Given the description of an element on the screen output the (x, y) to click on. 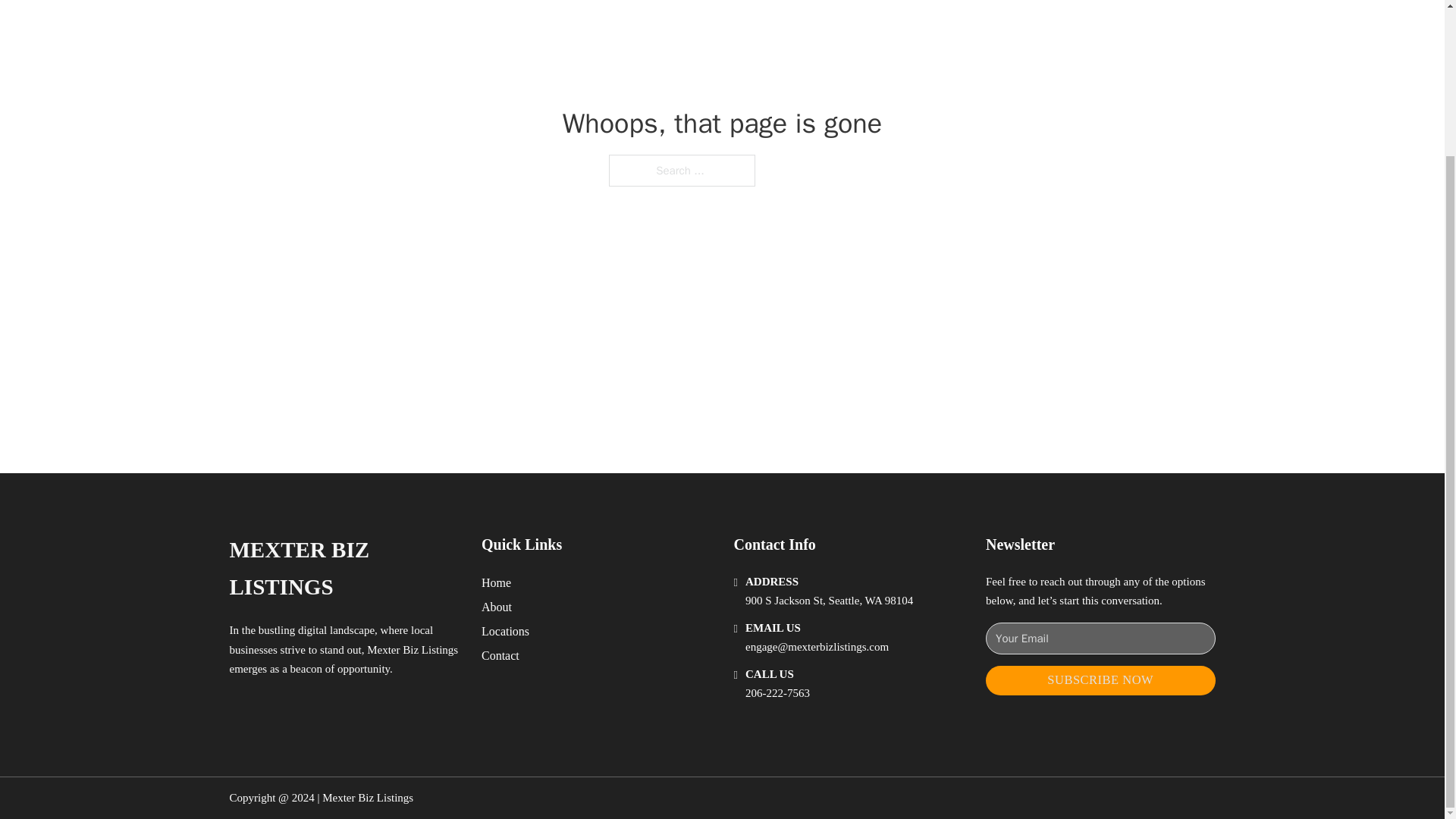
MEXTER BIZ LISTINGS (343, 568)
Contact (500, 655)
Home (496, 582)
Locations (505, 630)
206-222-7563 (777, 693)
SUBSCRIBE NOW (1100, 680)
About (496, 607)
